Given the description of an element on the screen output the (x, y) to click on. 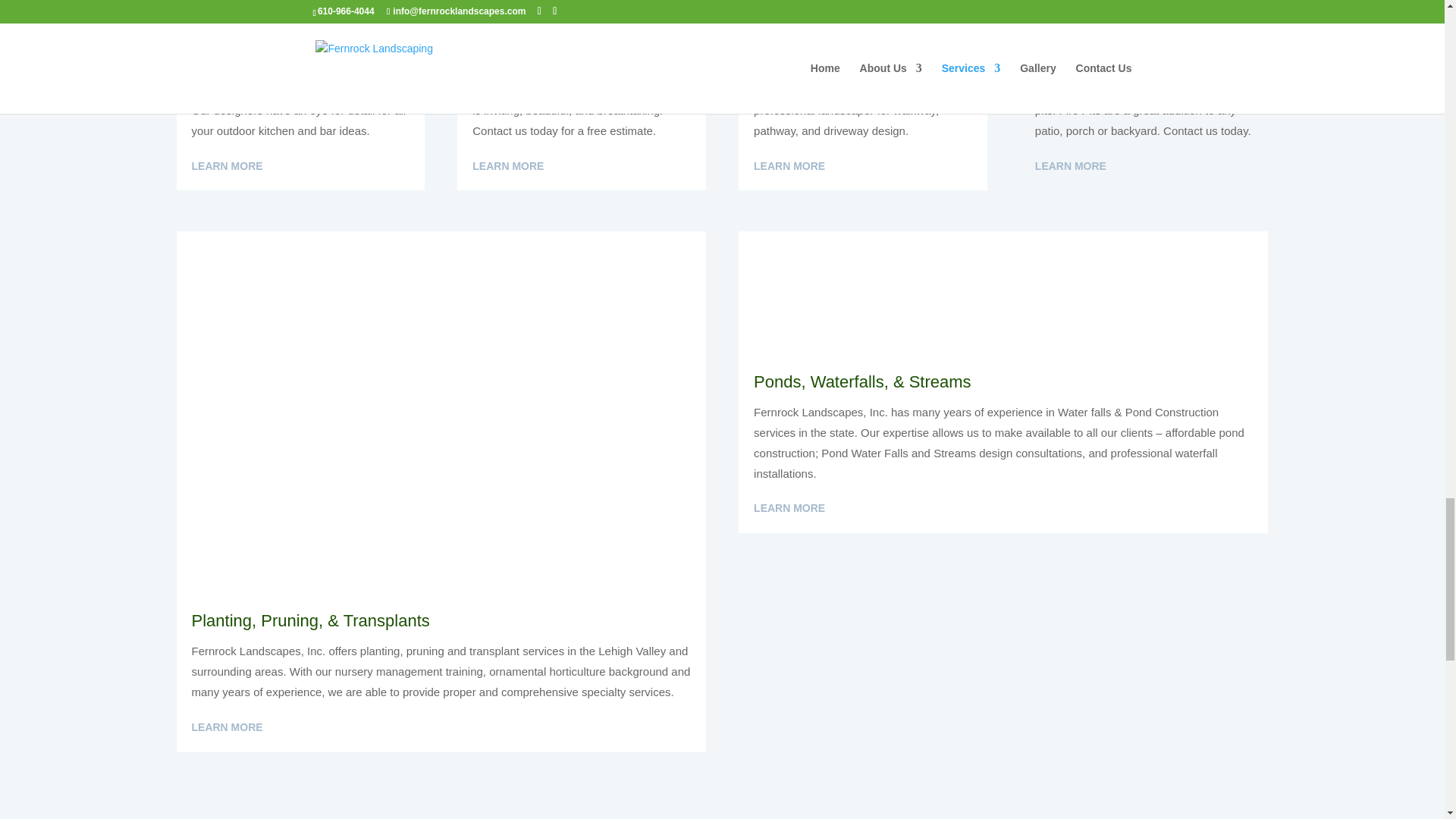
LEARN MORE (226, 728)
LEARN MORE (789, 508)
LEARN MORE (507, 167)
Walkway Installation (862, 2)
Paver Patio Design (581, 2)
Outdoor Kitchen (300, 2)
LEARN MORE (226, 167)
LEARN MORE (1070, 167)
Stream Installation (1003, 287)
LEARN MORE (789, 167)
Fire Pit Design (1144, 2)
